Given the description of an element on the screen output the (x, y) to click on. 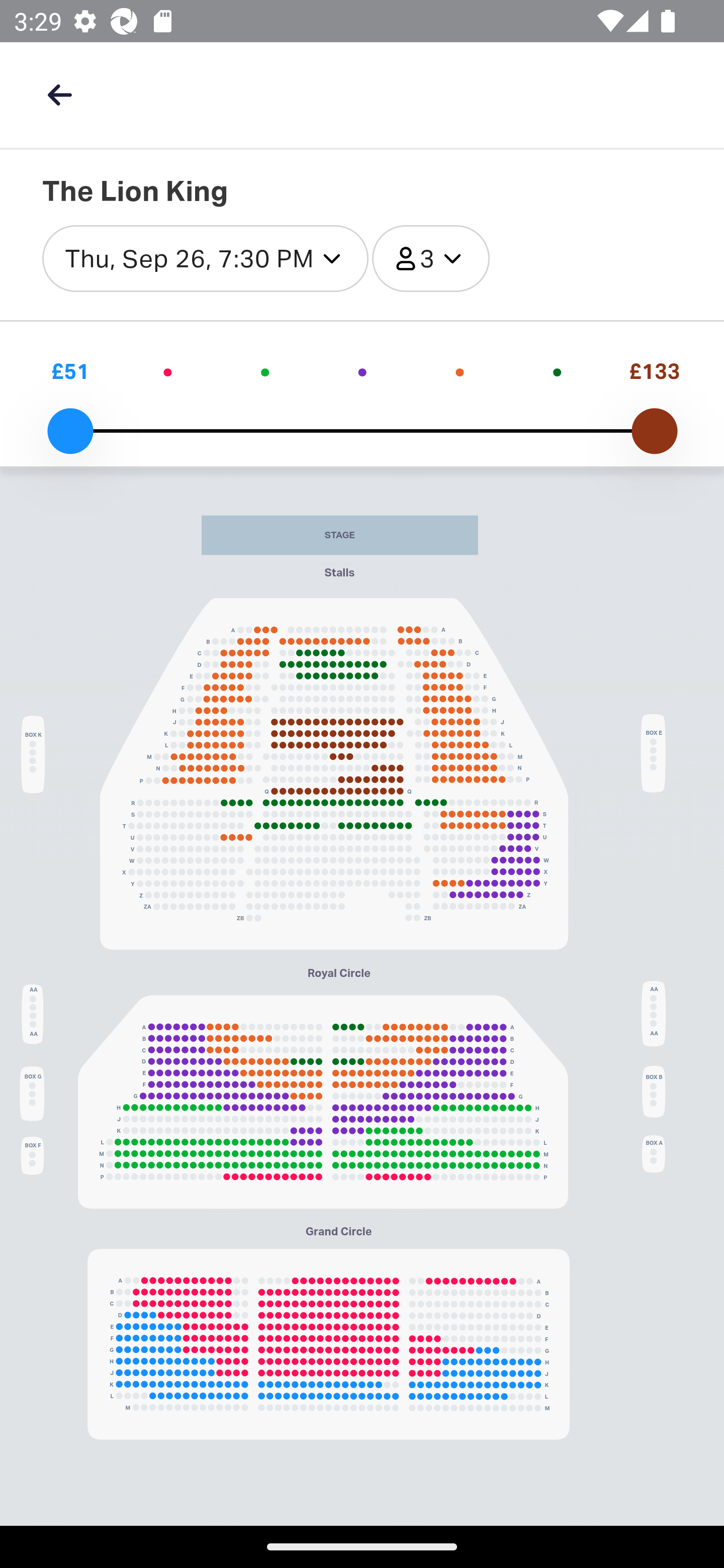
back button (59, 94)
Thu, Sep 26, 7:30 PM (205, 259)
3 (430, 259)
£51 (70, 370)
• (167, 370)
• (264, 370)
• (362, 370)
• (459, 370)
• (556, 370)
£133 (653, 370)
0.0 (69, 431)
100.0 (654, 431)
BOX E (653, 752)
BOX K (32, 753)
AA (653, 1014)
AA (31, 1013)
BOX B (653, 1090)
BOX G (31, 1094)
BOX F (31, 1154)
BOX A (653, 1153)
M M L L K K J J H H G G F F E E D D C C B B A A (328, 1344)
